Given the description of an element on the screen output the (x, y) to click on. 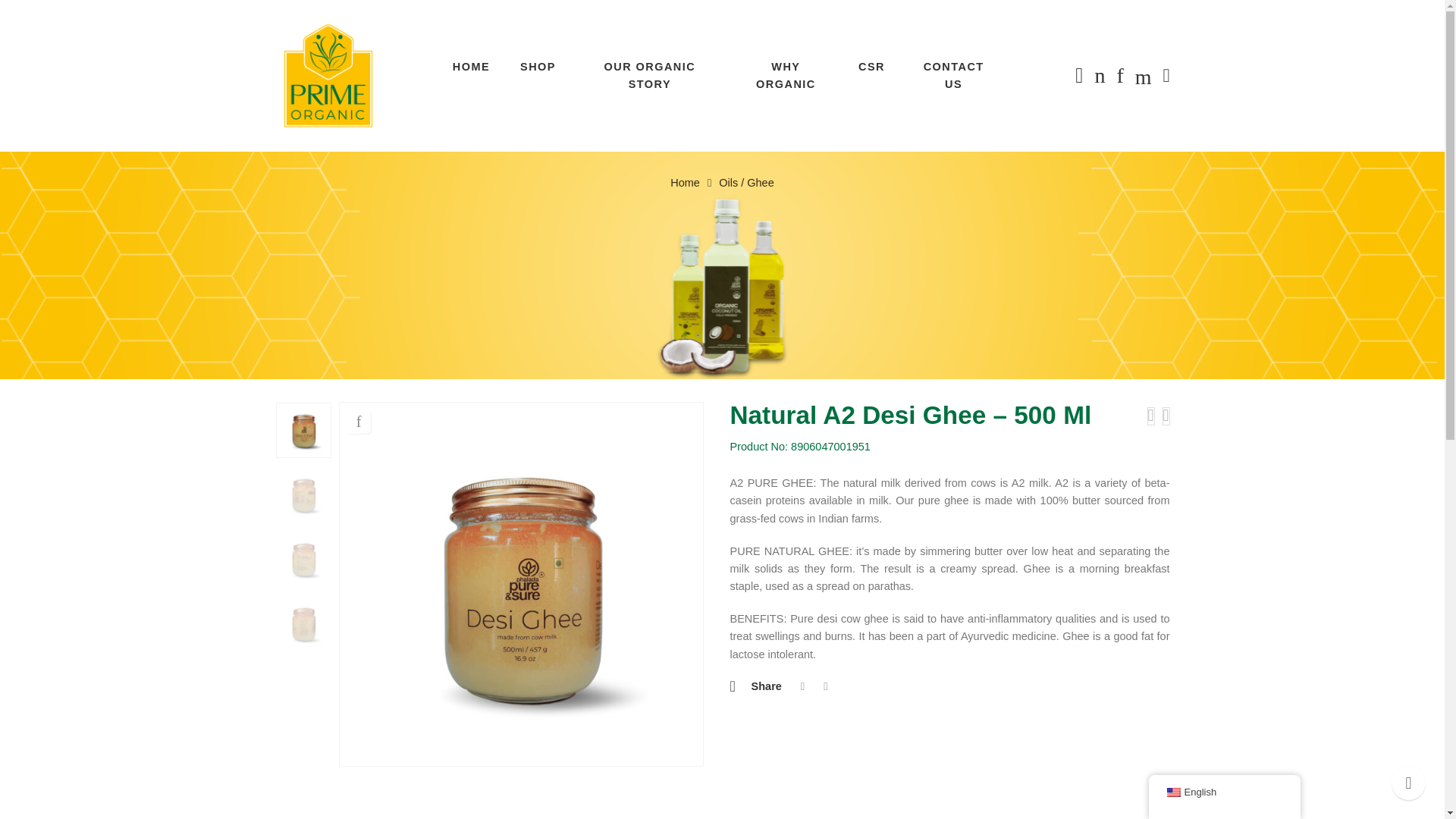
HOME (470, 66)
OUR ORGANIC STORY (649, 75)
HOME (470, 66)
CONTACT US (953, 75)
WHY ORGANIC (786, 75)
WHY ORGANIC (786, 75)
Home (684, 182)
Prime Organic - Prime Organic (327, 75)
OUR ORGANIC STORY (649, 75)
CONTACT US (953, 75)
